Given the description of an element on the screen output the (x, y) to click on. 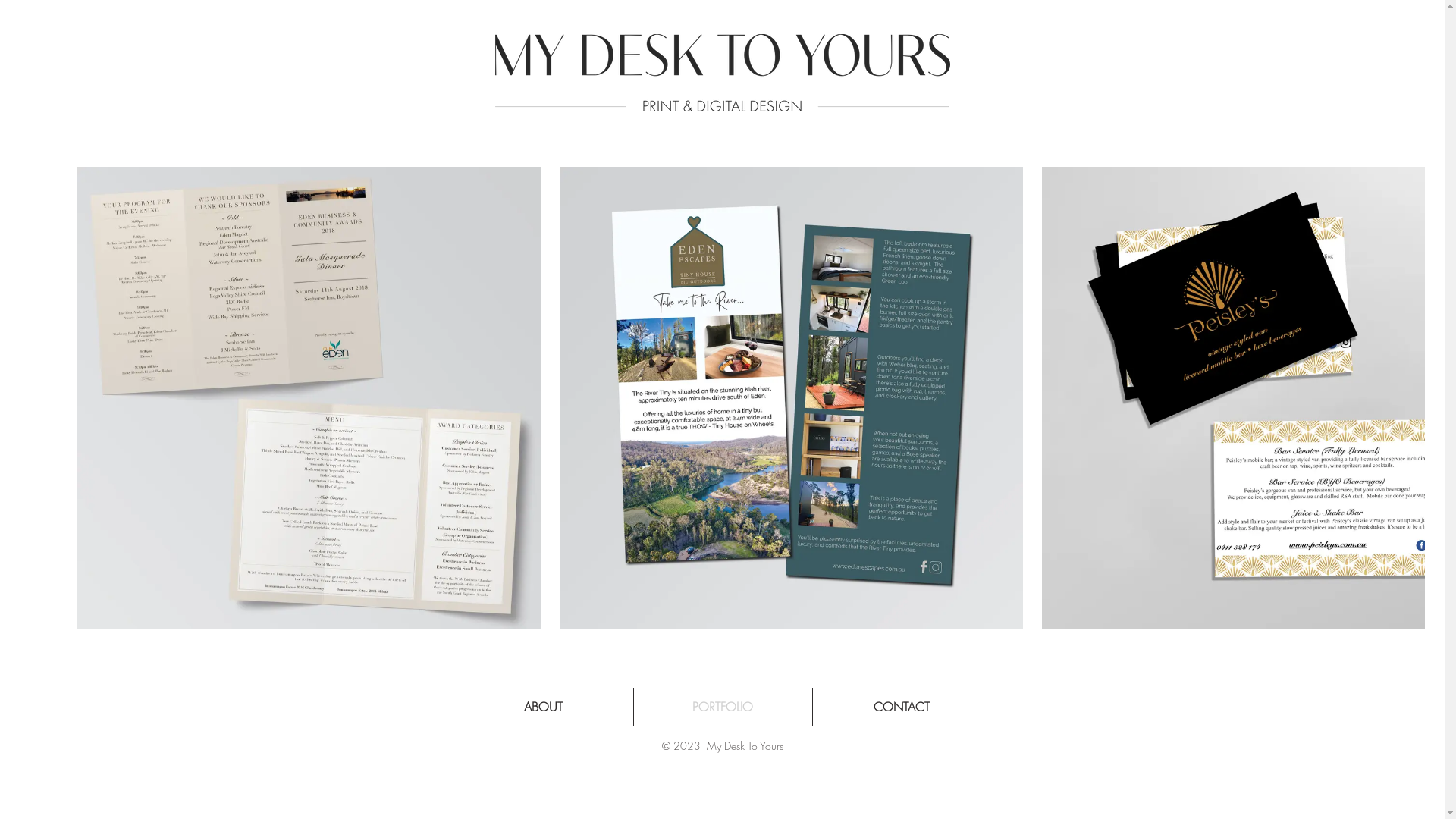
ABOUT Element type: text (542, 706)
CONTACT Element type: text (901, 706)
PORTFOLIO Element type: text (722, 706)
